Given the description of an element on the screen output the (x, y) to click on. 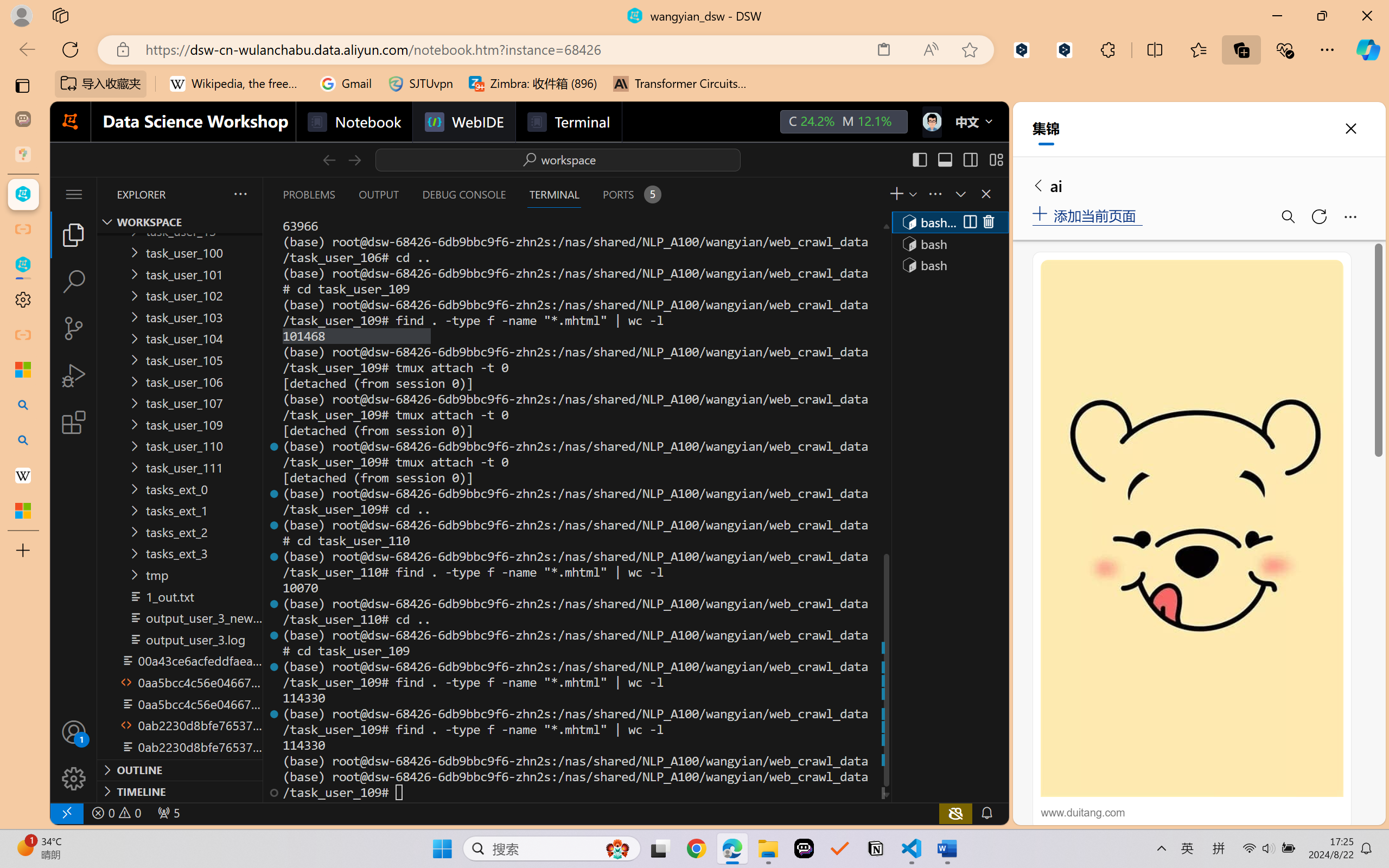
Title actions (957, 159)
icon (930, 121)
Notifications (986, 812)
Terminal (Ctrl+`) (553, 194)
Notebook (353, 121)
Accounts - Sign in requested (73, 732)
Class: xterm-decoration-overview-ruler (885, 508)
No Problems (115, 812)
Terminal 2 bash (949, 243)
